Given the description of an element on the screen output the (x, y) to click on. 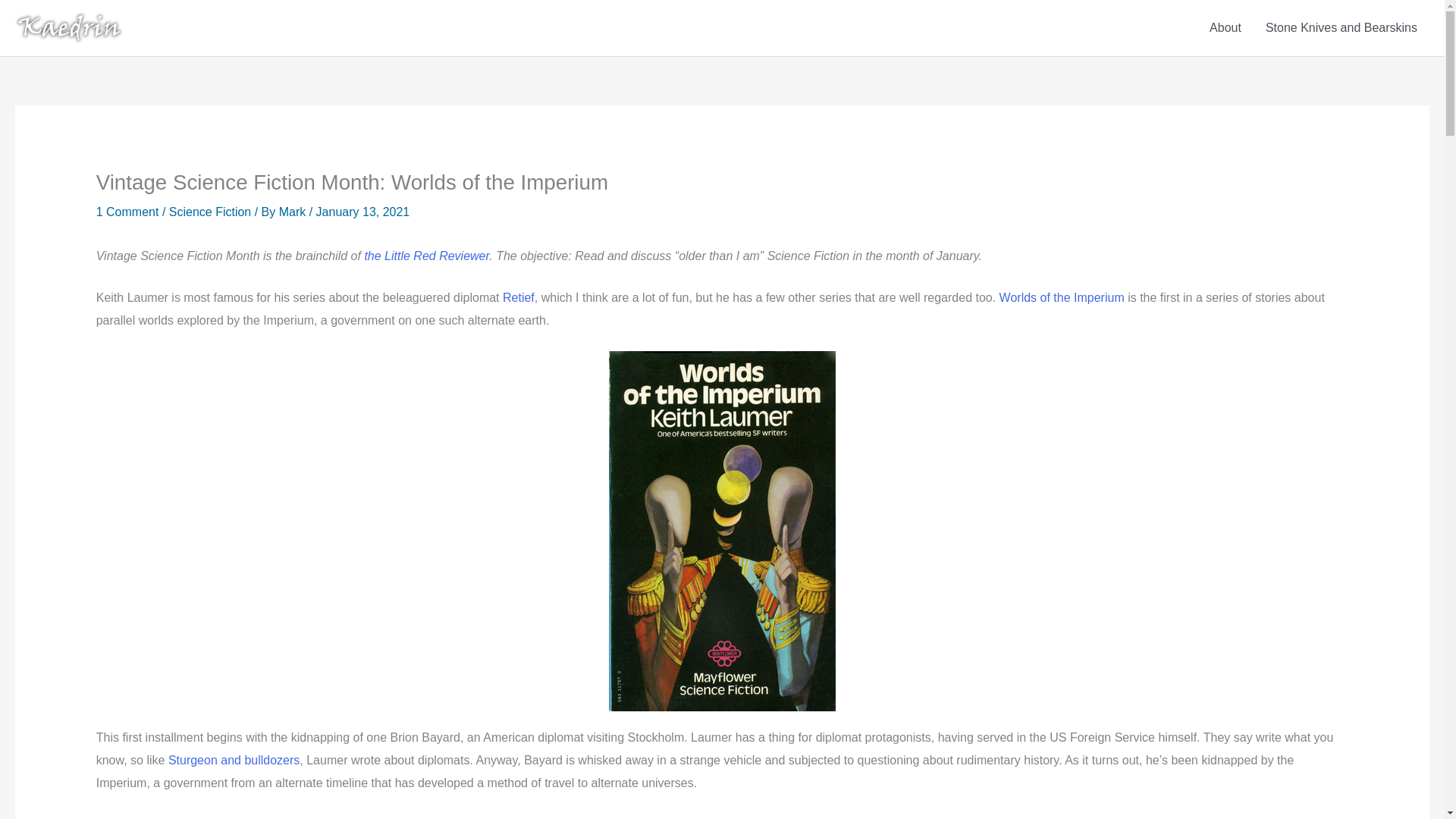
Mark (293, 211)
View all posts by Mark (293, 211)
Sturgeon and bulldozers (233, 759)
Worlds of the Imperium (1061, 297)
Stone Knives and Bearskins (1341, 28)
the Little Red Reviewer (426, 255)
Science Fiction (209, 211)
About (1224, 28)
1 Comment (127, 211)
Retief (518, 297)
